Given the description of an element on the screen output the (x, y) to click on. 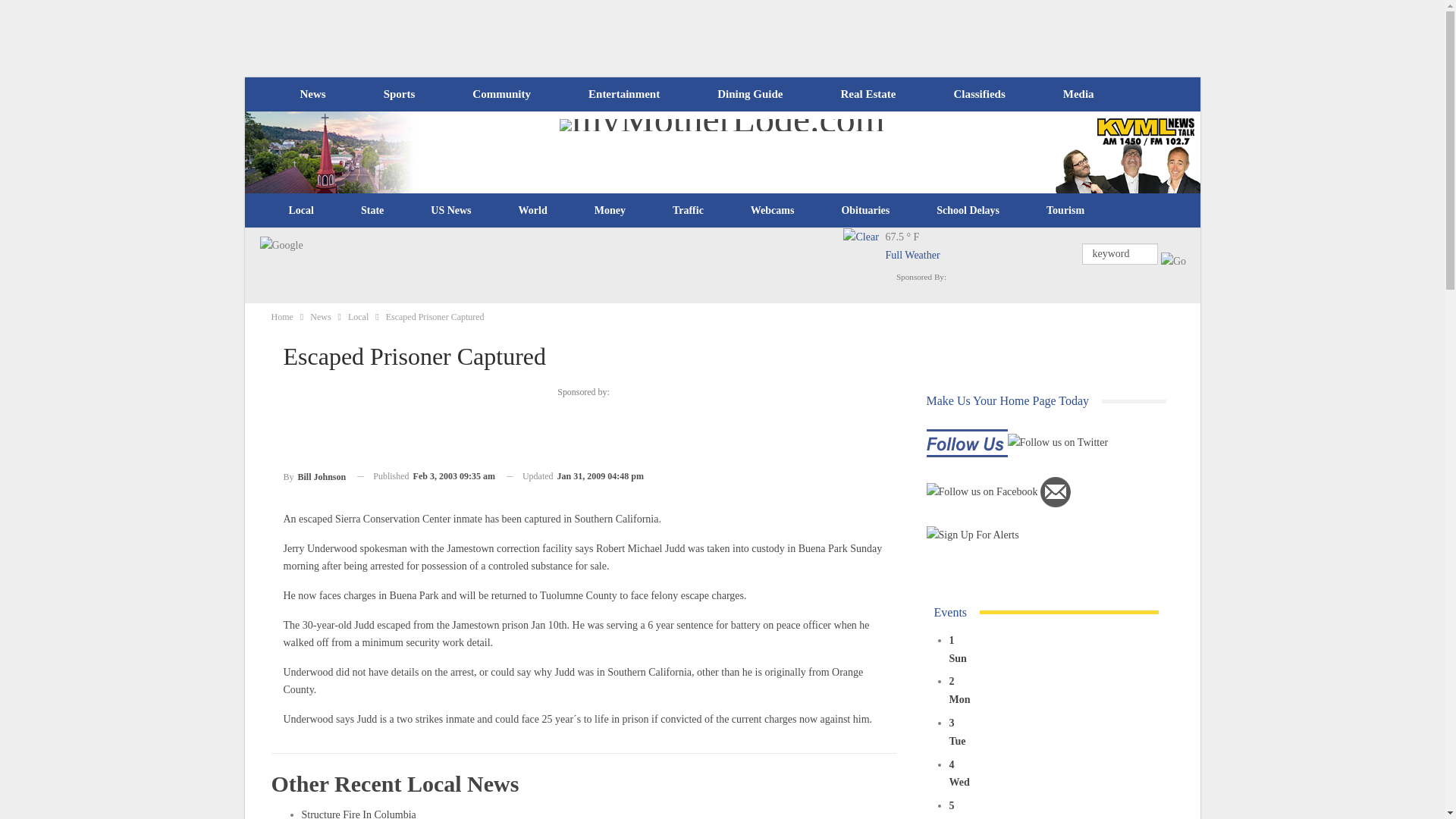
Classifieds (979, 93)
Submit (1173, 261)
School Delays (967, 210)
US News (451, 210)
Dining Guide (749, 93)
Webcams (772, 210)
